Given the description of an element on the screen output the (x, y) to click on. 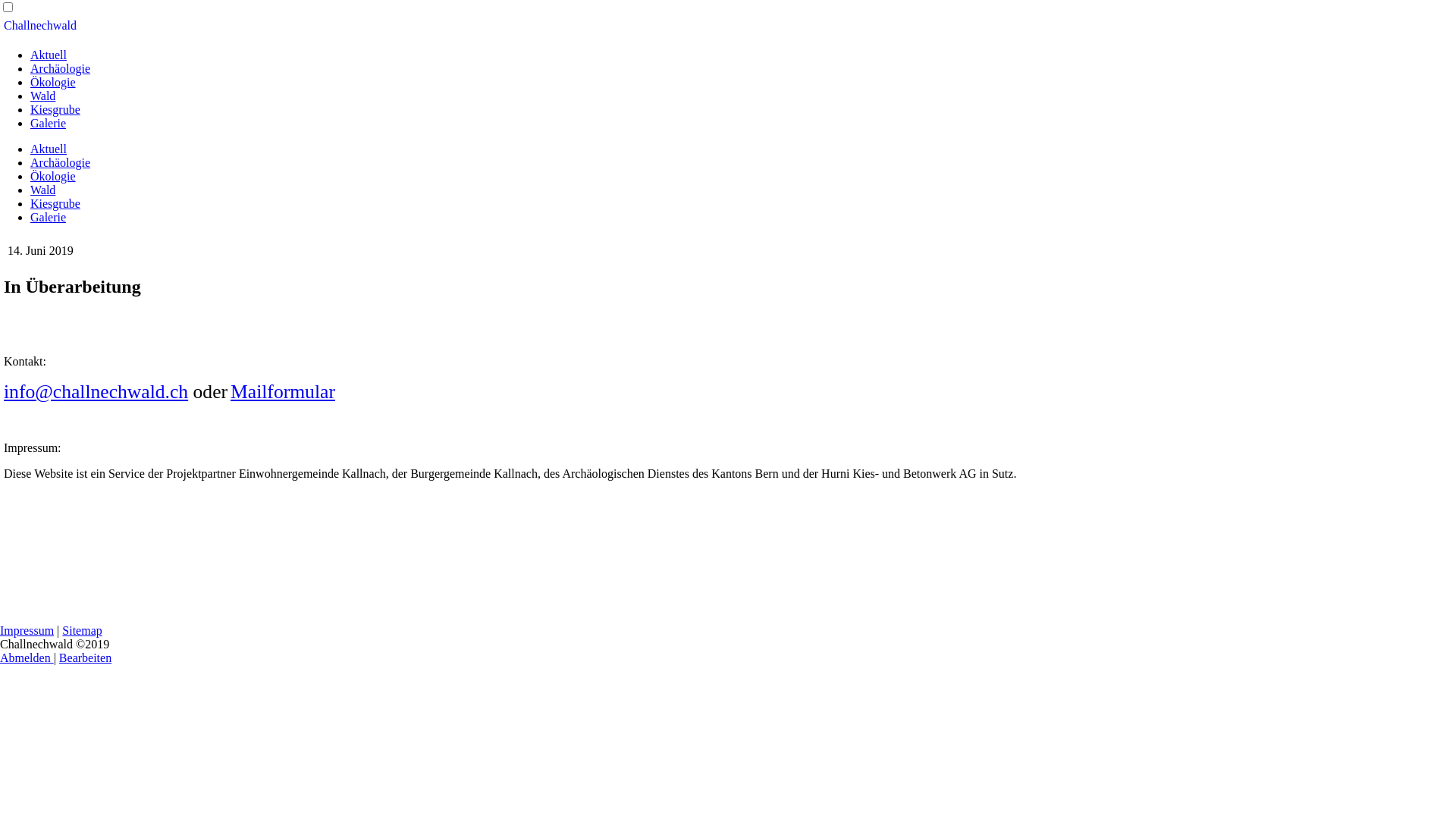
Wald Element type: text (42, 95)
Galerie Element type: text (47, 122)
Aktuell Element type: text (48, 148)
Abmelden Element type: text (26, 657)
Aktuell Element type: text (48, 54)
Sitemap Element type: text (81, 630)
Bearbeiten Element type: text (85, 657)
Galerie Element type: text (47, 216)
Wald Element type: text (42, 189)
Kiesgrube Element type: text (55, 203)
Impressum Element type: text (26, 630)
Challnechwald Element type: text (39, 24)
info@challnechwald.ch Element type: text (95, 391)
Kiesgrube Element type: text (55, 109)
Mailformular Element type: text (282, 391)
